Given the description of an element on the screen output the (x, y) to click on. 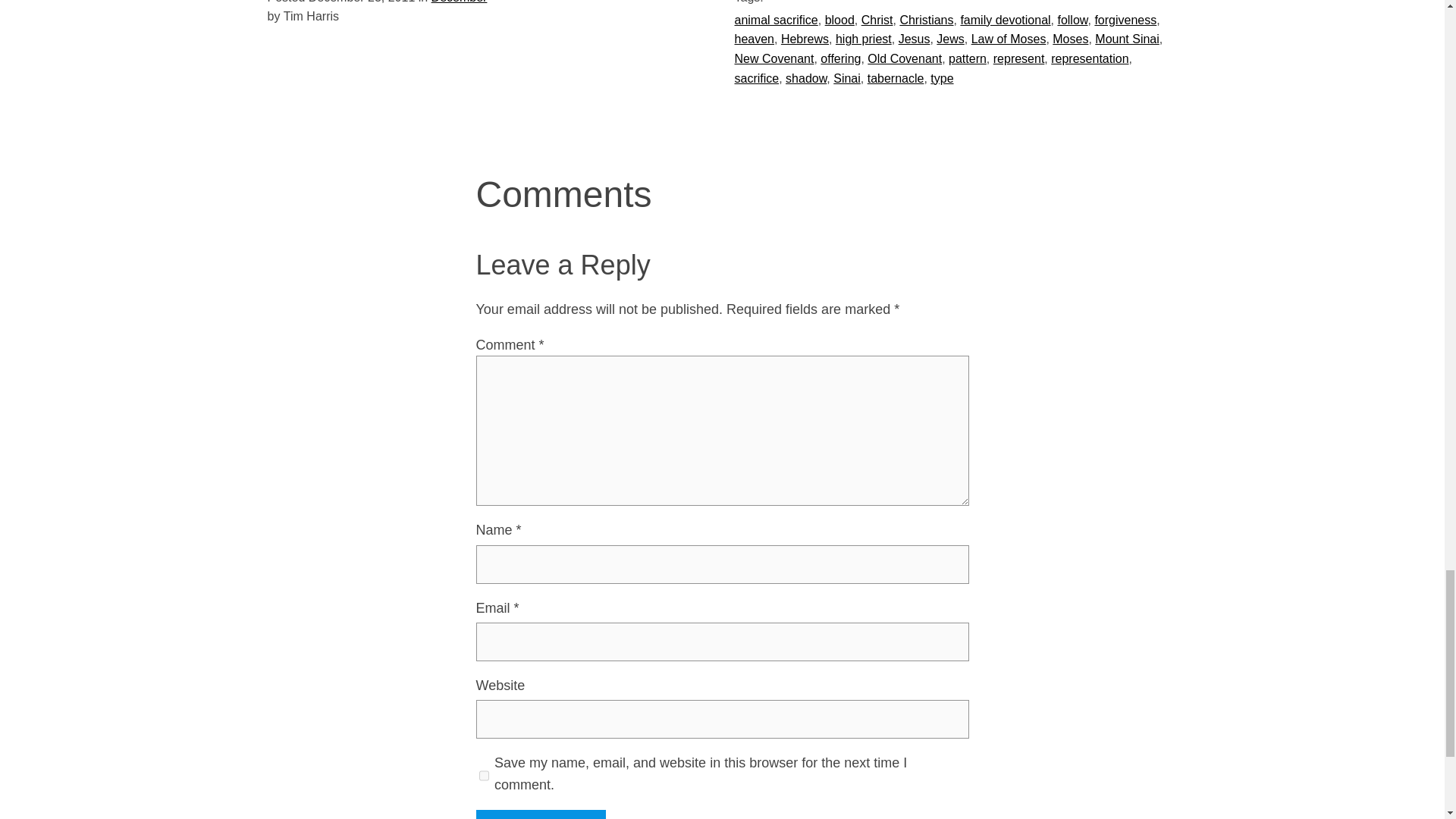
Hebrews (804, 38)
sacrifice (755, 78)
representation (1089, 58)
represent (1018, 58)
New Covenant (773, 58)
Christ (877, 19)
high priest (863, 38)
animal sacrifice (774, 19)
Post Comment (540, 814)
family devotional (1004, 19)
